Given the description of an element on the screen output the (x, y) to click on. 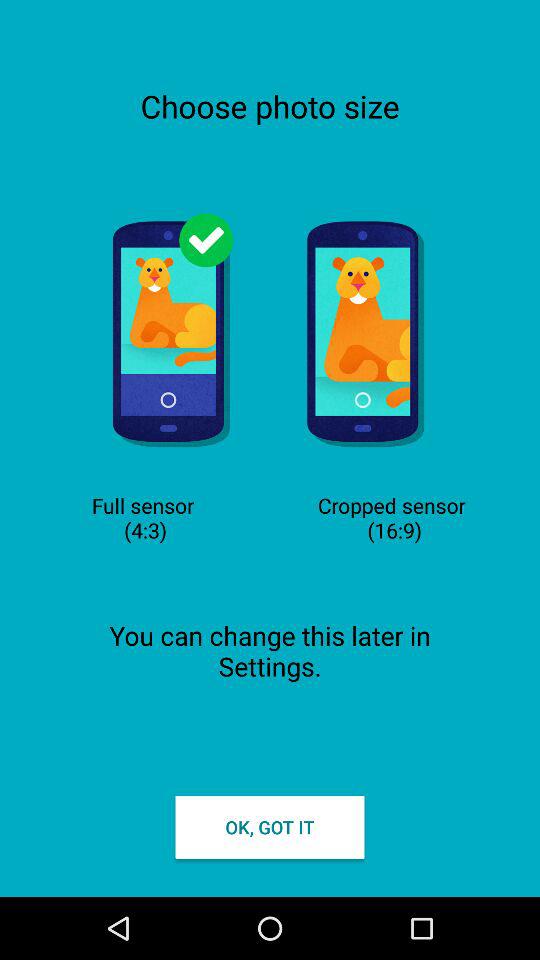
turn off item below you can change icon (269, 826)
